Given the description of an element on the screen output the (x, y) to click on. 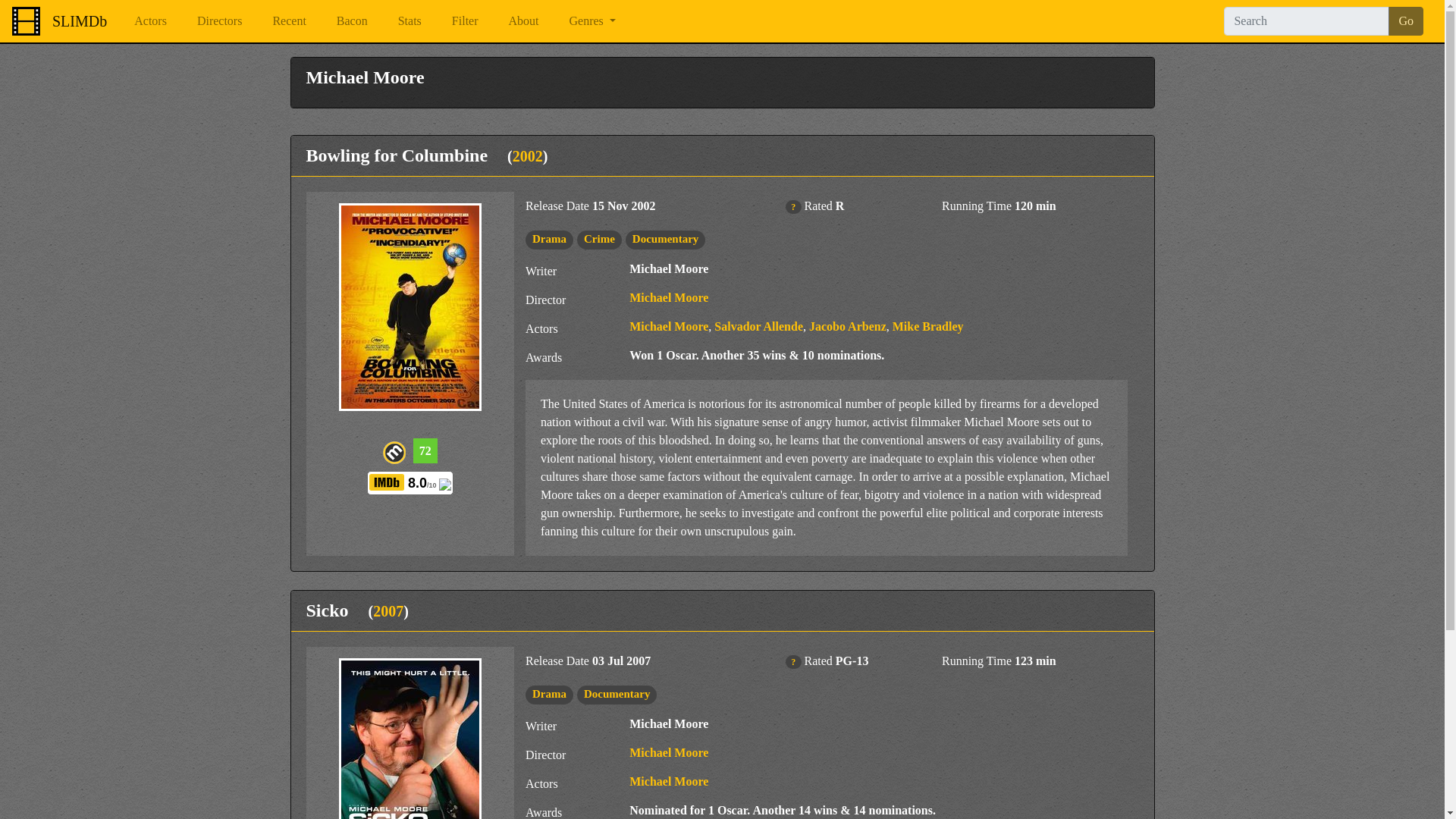
Recent (288, 20)
Drama (549, 238)
SLIMDb (79, 20)
2002 (527, 156)
Ratings Help (792, 661)
Genres (592, 20)
Ratings Help (792, 206)
Go (1406, 21)
Stats (409, 20)
Filter (464, 20)
Actors (150, 20)
Documentary (664, 238)
Michael Moore (667, 297)
About (523, 20)
Crime (598, 238)
